Given the description of an element on the screen output the (x, y) to click on. 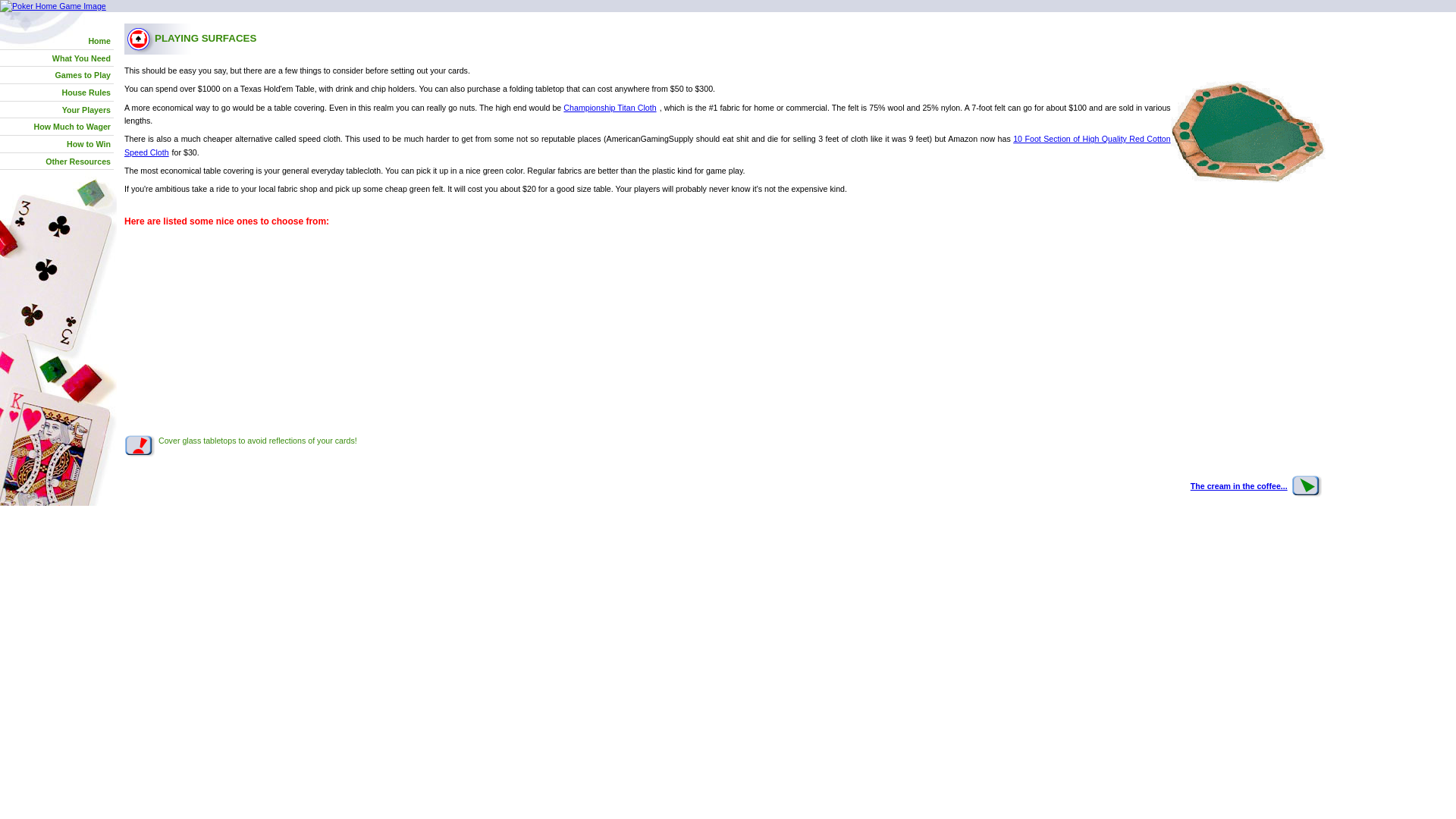
How to Win (89, 146)
10 Foot Section of High Quality Red Cotton Speed Cloth (646, 145)
House Rules (87, 94)
Games to Play (84, 77)
Other Resources (79, 163)
Home (100, 42)
Championship Titan Cloth (609, 107)
How Much to Wager (73, 128)
What You Need (82, 60)
Your Players (87, 111)
